Given the description of an element on the screen output the (x, y) to click on. 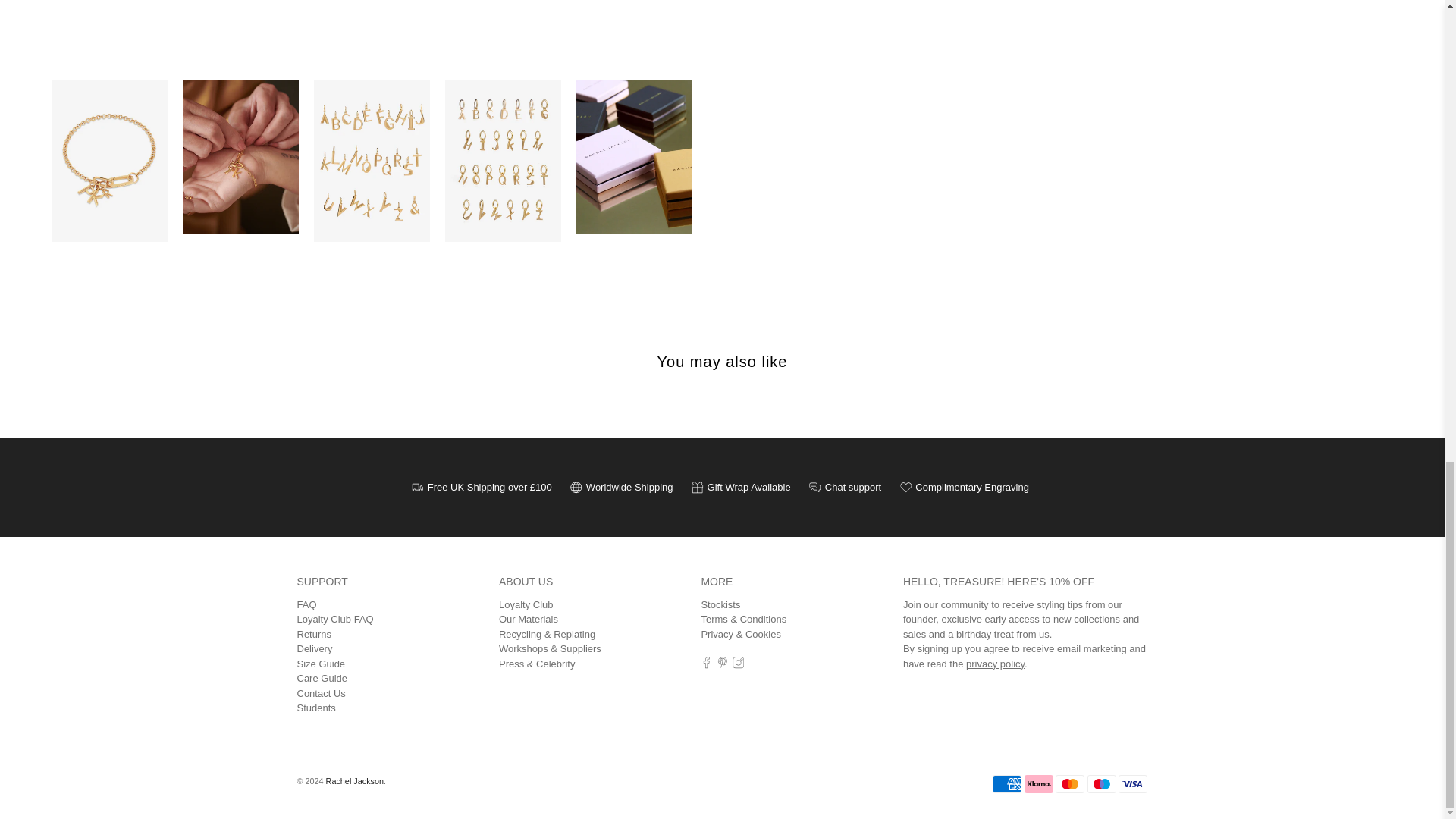
Family Initials Charm Bracelet (371, 21)
Rachel Jackson on Pinterest (722, 665)
Rachel Jackson on Facebook (706, 665)
Rachel Jackson on Instagram (738, 665)
